Given the description of an element on the screen output the (x, y) to click on. 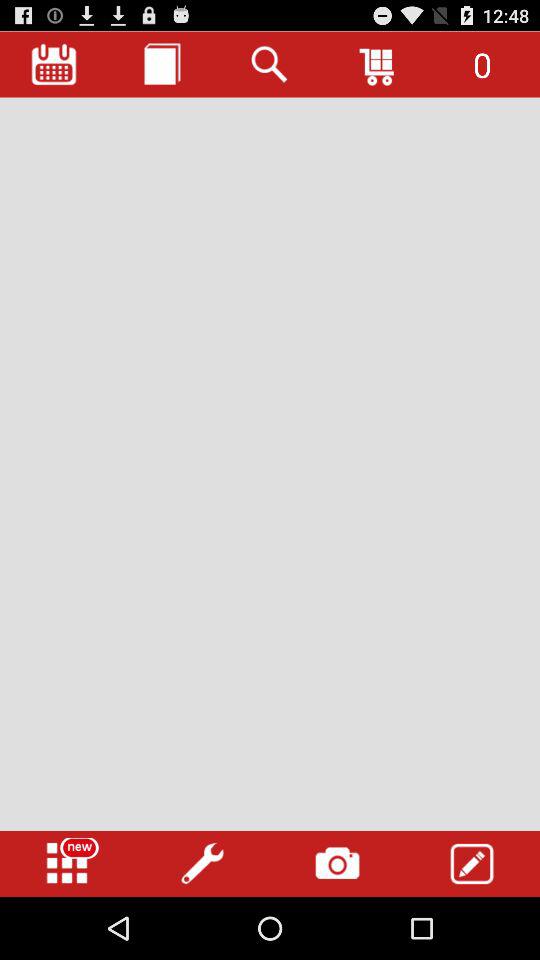
open calendar (53, 64)
